Given the description of an element on the screen output the (x, y) to click on. 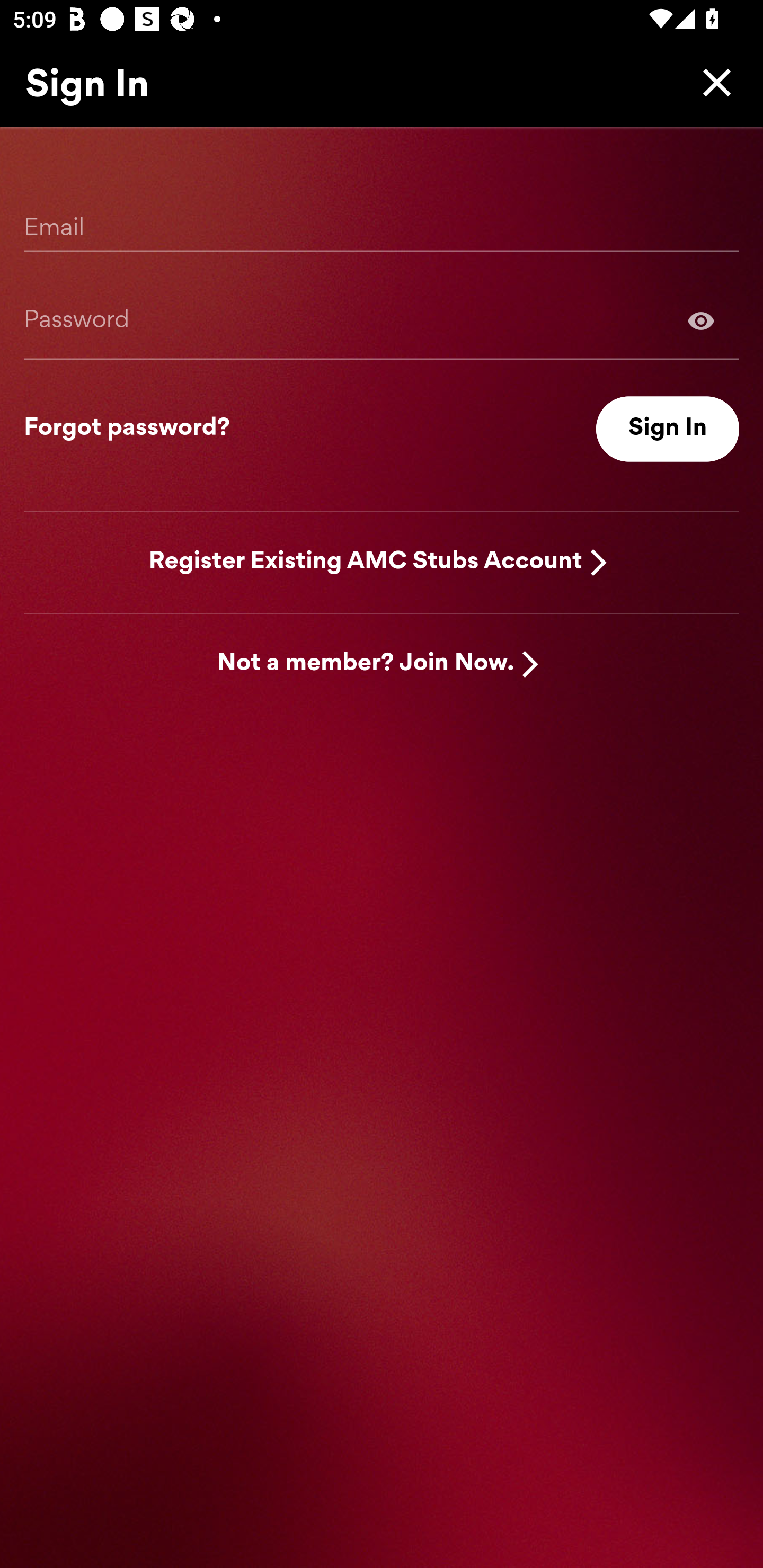
Close (712, 82)
Show Password (381, 320)
Show Password (701, 320)
Forgot password? (126, 428)
Sign In (667, 428)
Register Existing AMC Stubs Account (365, 561)
Not a member? Join Now. (365, 663)
